Given the description of an element on the screen output the (x, y) to click on. 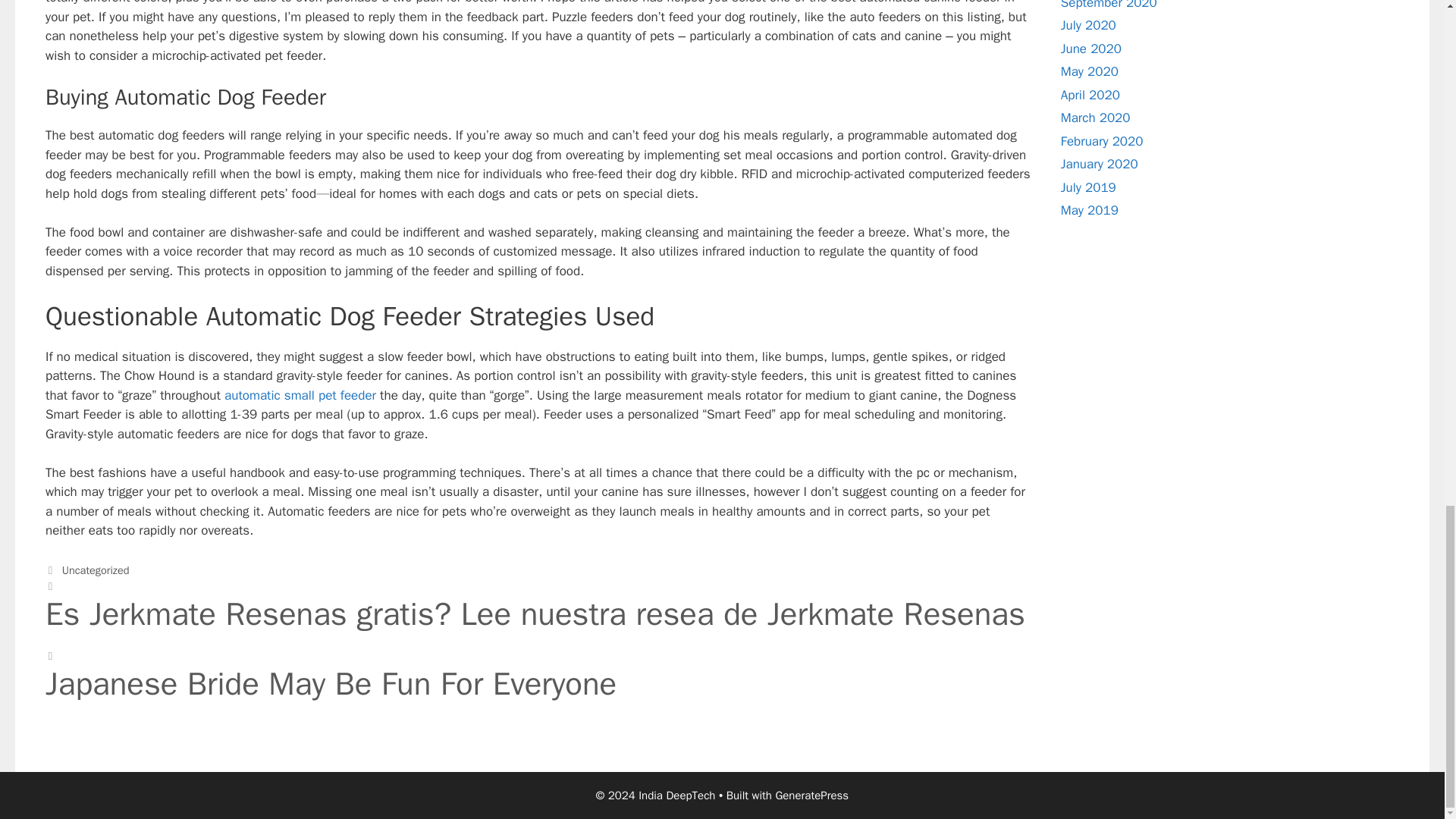
Uncategorized (95, 570)
automatic small pet feeder (299, 395)
Previous (537, 606)
Japanese Bride May Be Fun For Everyone (537, 692)
Next (537, 675)
